Given the description of an element on the screen output the (x, y) to click on. 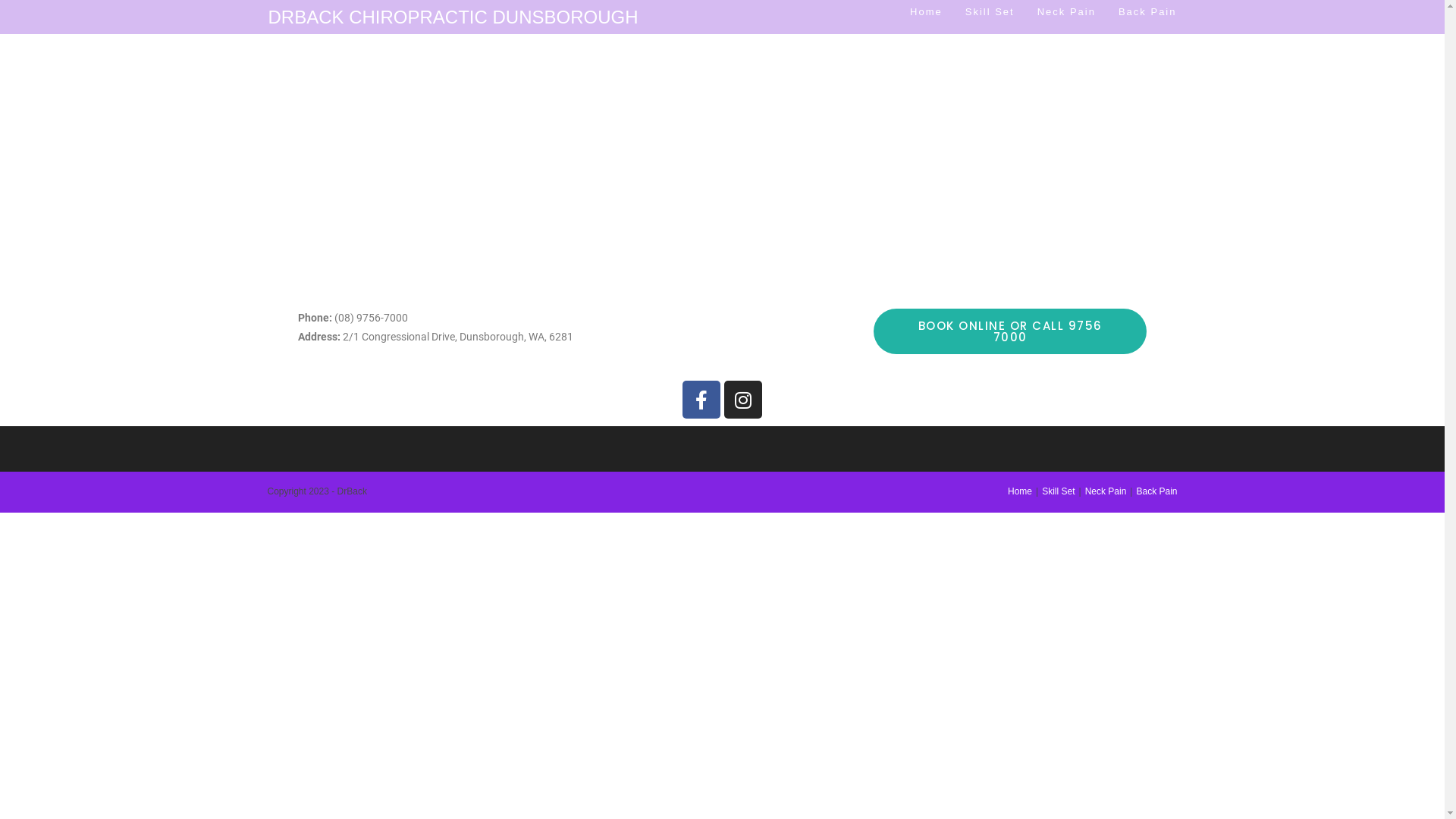
DRBACK CHIROPRACTIC DUNSBOROUGH Element type: text (453, 16)
Skill Set Element type: text (989, 11)
Neck Pain Element type: text (1066, 11)
Skill Set Element type: text (1057, 491)
2/1 Congressional Drive, Dunsborough, WA, 6281 Element type: hover (722, 163)
BOOK ONLINE OR CALL 9756 7000 Element type: text (1009, 331)
Neck Pain Element type: text (1105, 491)
Back Pain Element type: text (1147, 11)
Home Element type: text (1019, 491)
Home Element type: text (925, 11)
Back Pain Element type: text (1155, 491)
